Given the description of an element on the screen output the (x, y) to click on. 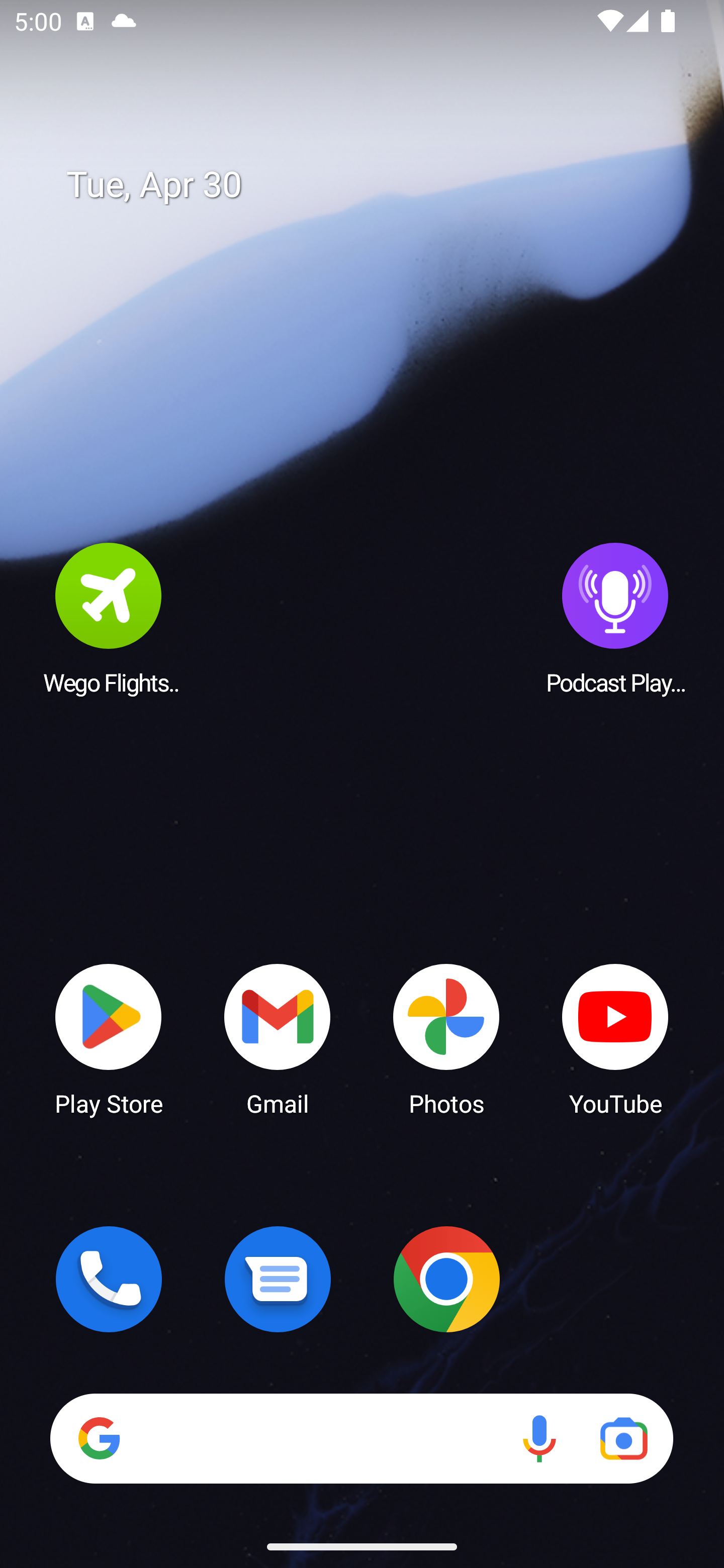
Tue, Apr 30 (375, 184)
Wego Flights & Hotels (108, 617)
Podcast Player (615, 617)
Play Store (108, 1038)
Gmail (277, 1038)
Photos (445, 1038)
YouTube (615, 1038)
Phone (108, 1279)
Messages (277, 1279)
Chrome (446, 1279)
Voice search (539, 1438)
Google Lens (623, 1438)
